Given the description of an element on the screen output the (x, y) to click on. 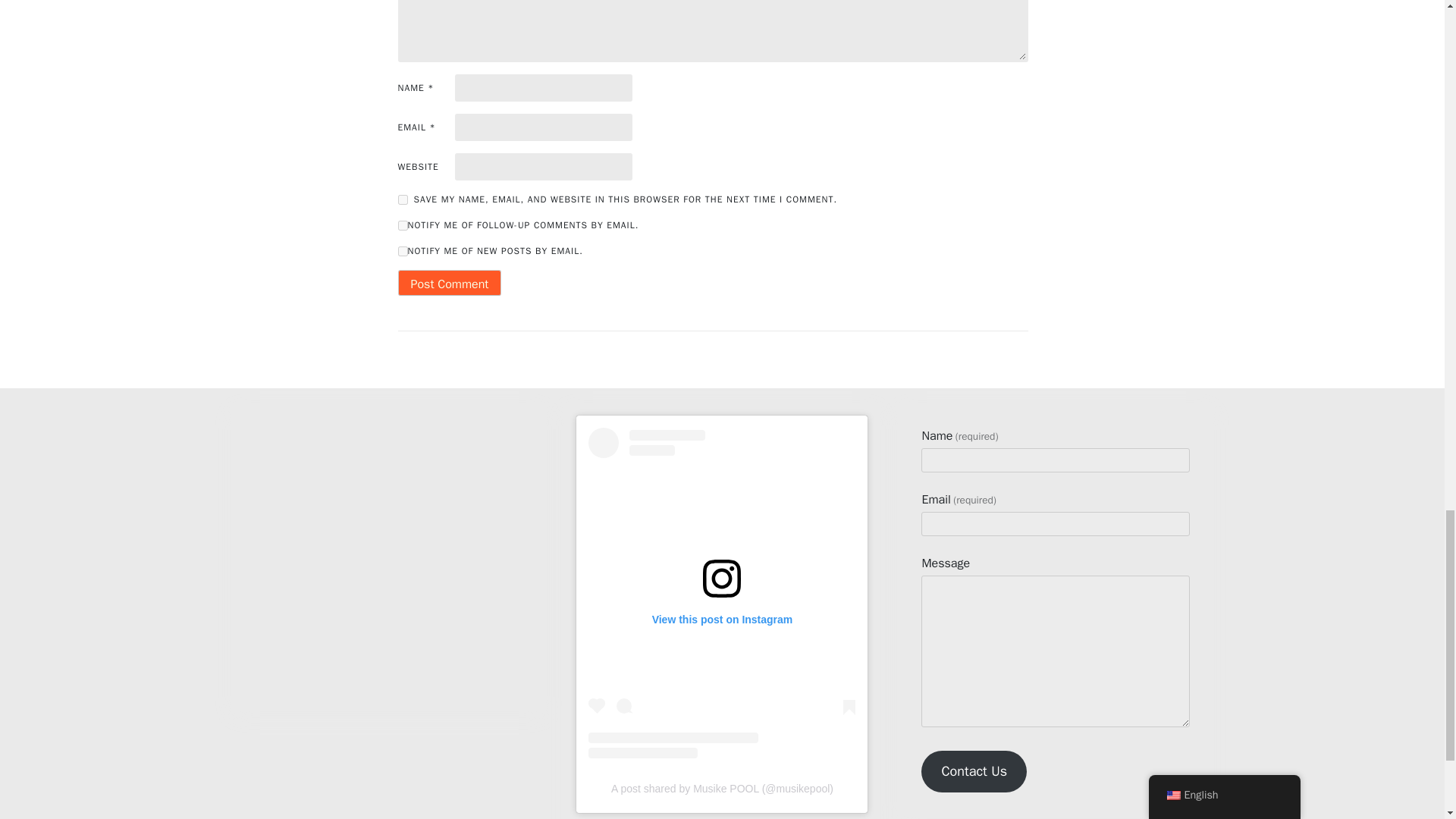
Post Comment (448, 282)
subscribe (402, 251)
Spotify Embed: MusikePOOL (389, 547)
Post Comment (448, 282)
subscribe (402, 225)
yes (402, 199)
